Given the description of an element on the screen output the (x, y) to click on. 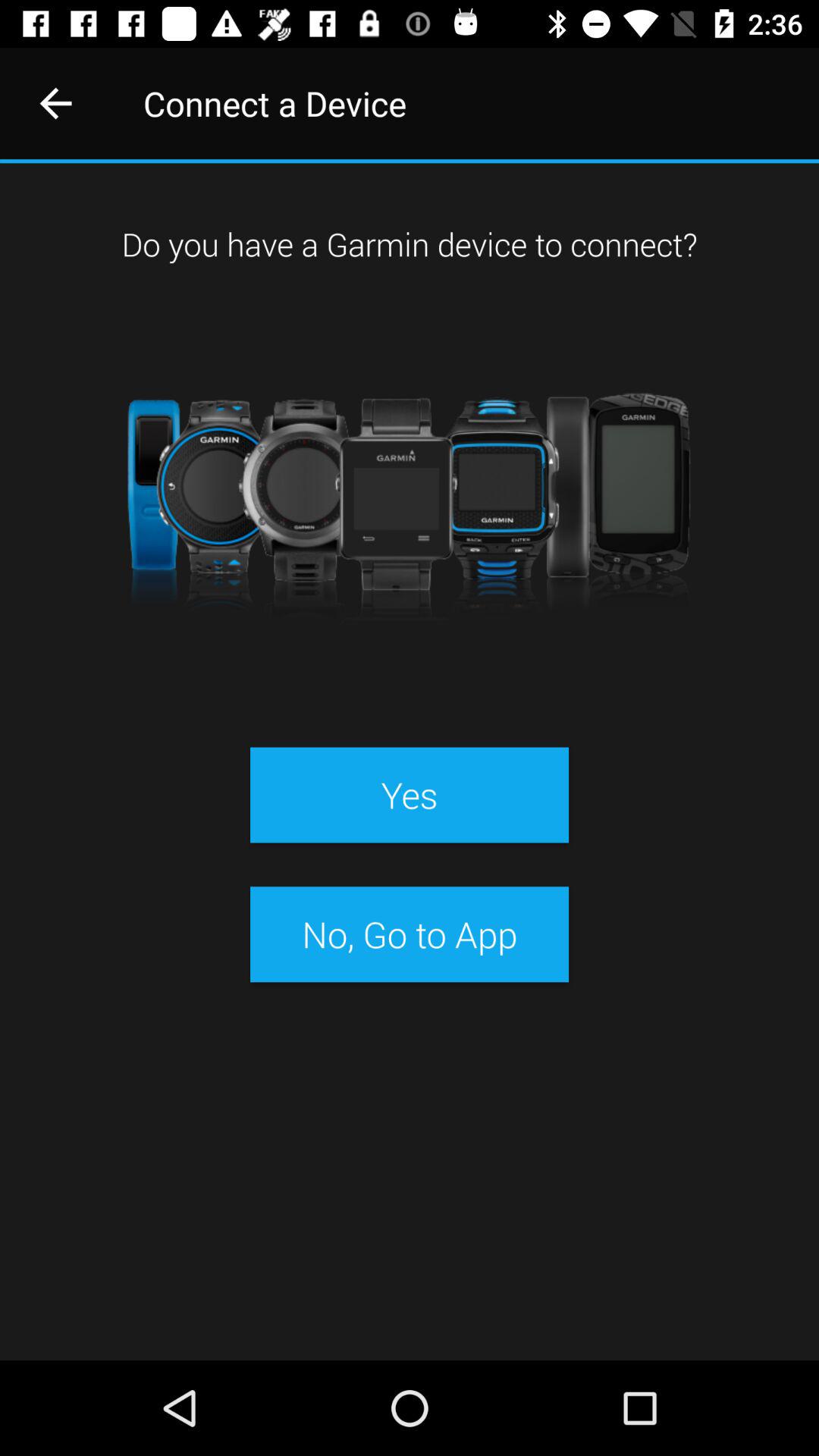
turn off the item to the left of connect a device (55, 103)
